Given the description of an element on the screen output the (x, y) to click on. 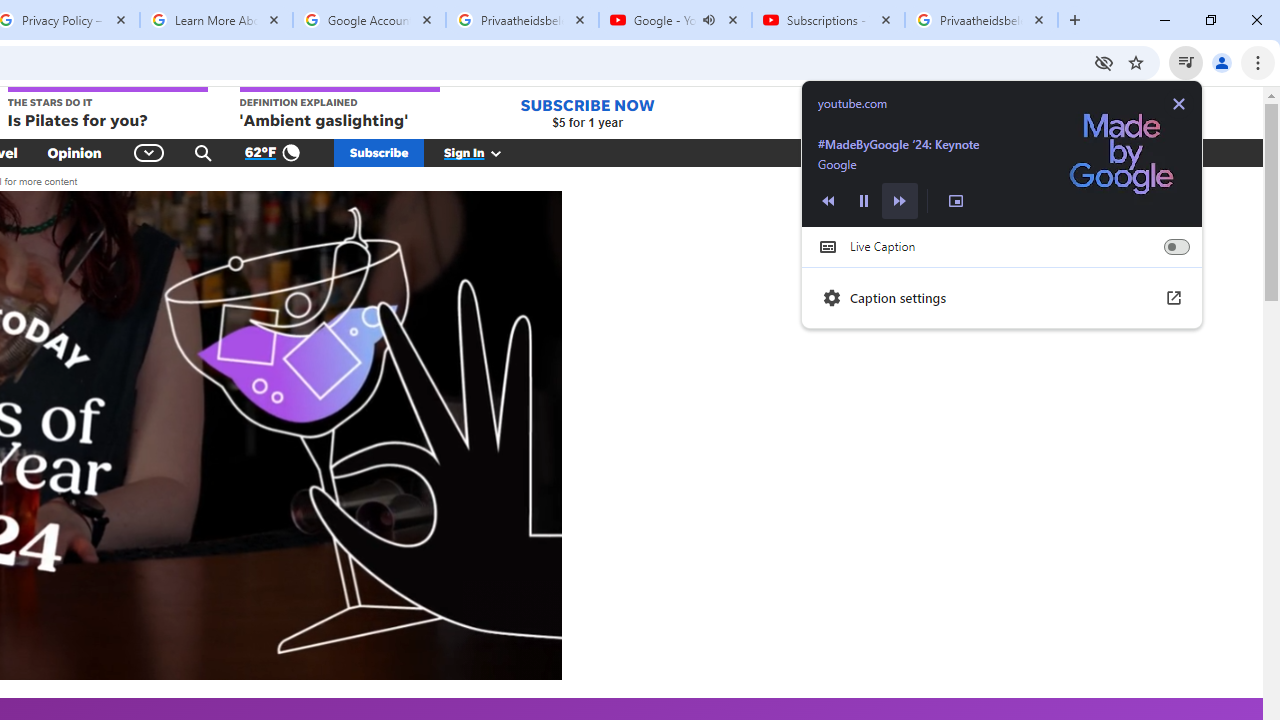
Seek Forward (899, 200)
Caption settings  (1001, 297)
Back to tab (1001, 153)
Enter picture-in-picture (956, 200)
Search (203, 152)
Subscribe (379, 152)
Live Caption (1176, 246)
Google Account (369, 20)
Dismiss (1178, 103)
